Given the description of an element on the screen output the (x, y) to click on. 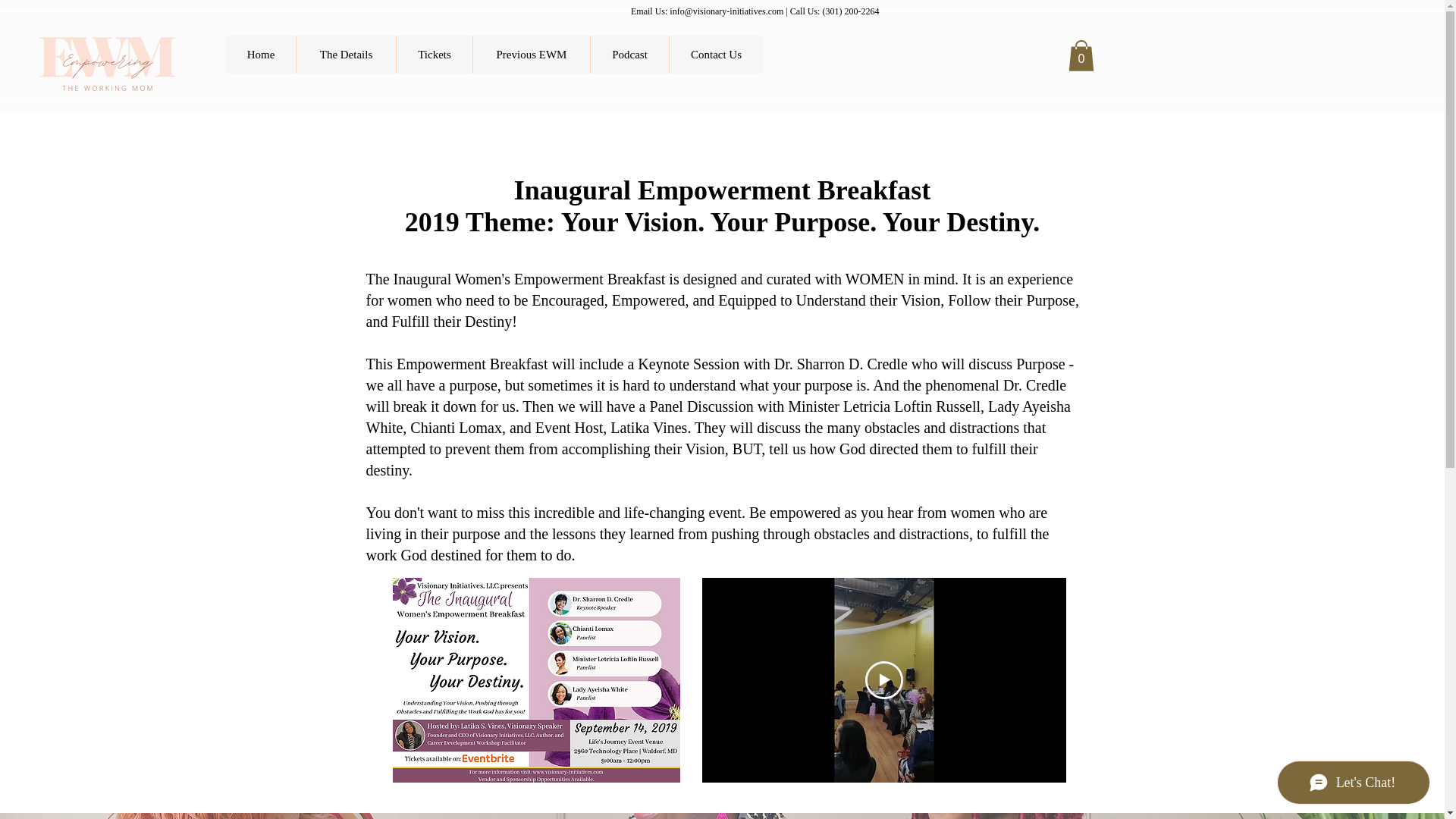
The Details (345, 54)
Previous EWM (530, 54)
Podcast (628, 54)
Tickets (433, 54)
Home (260, 54)
Contact Us (715, 54)
